Given the description of an element on the screen output the (x, y) to click on. 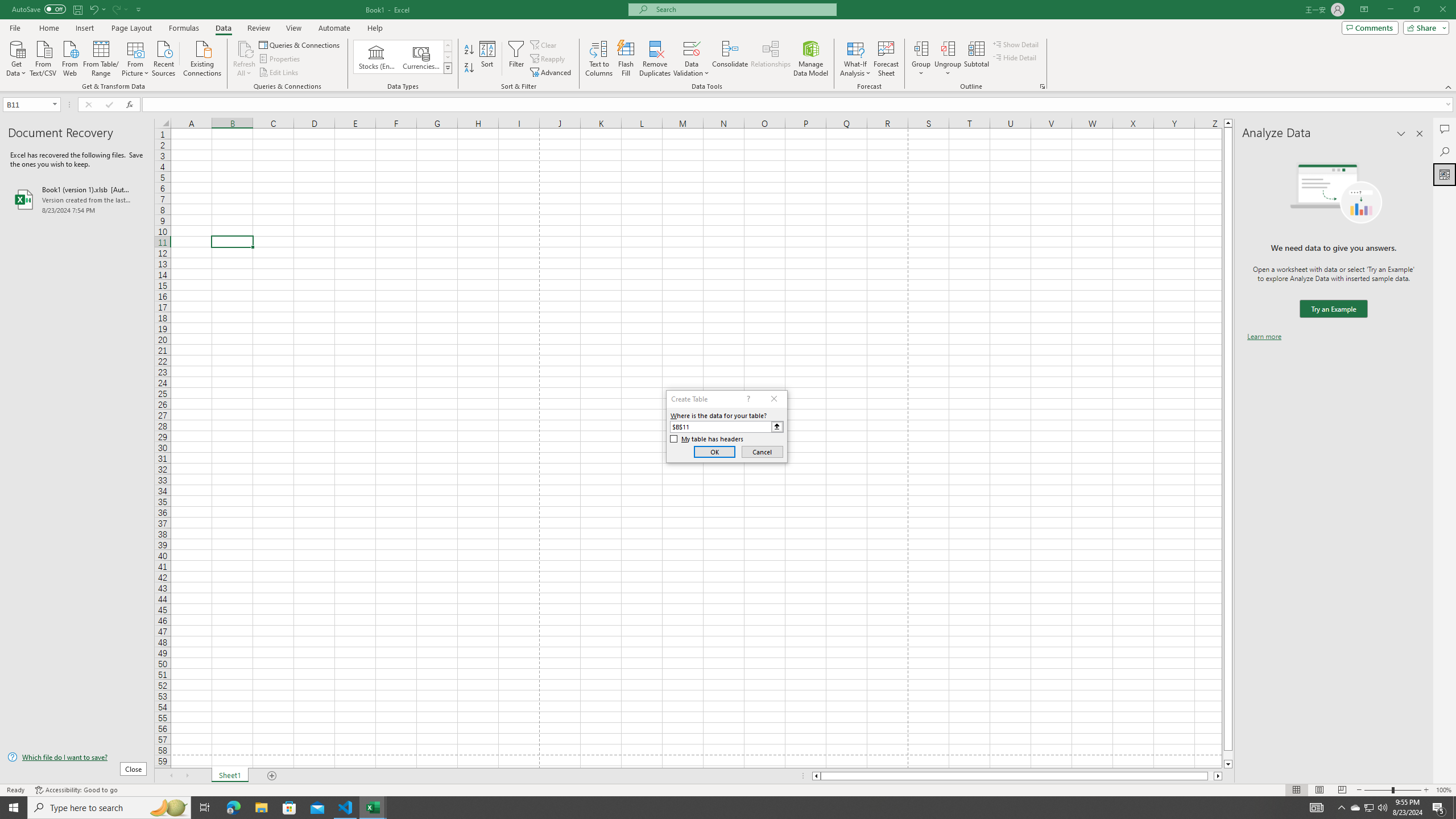
Stocks (English) (375, 56)
Manage Data Model (810, 58)
We need data to give you answers. Try an Example (1333, 308)
AutomationID: ConvertToLinkedEntity (403, 56)
From Web (69, 57)
